Given the description of an element on the screen output the (x, y) to click on. 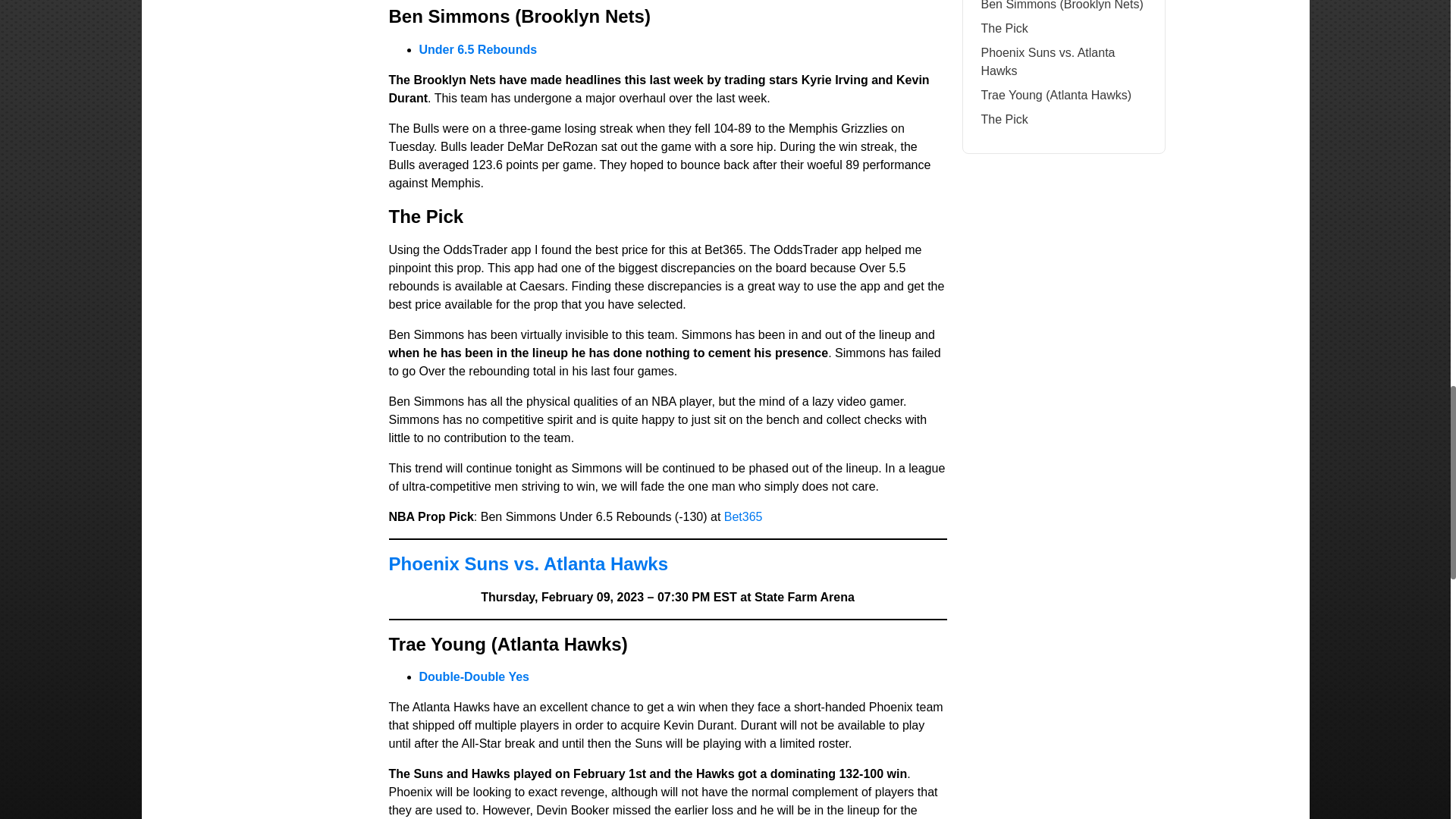
Under 6.5 Rebounds (478, 49)
